Given the description of an element on the screen output the (x, y) to click on. 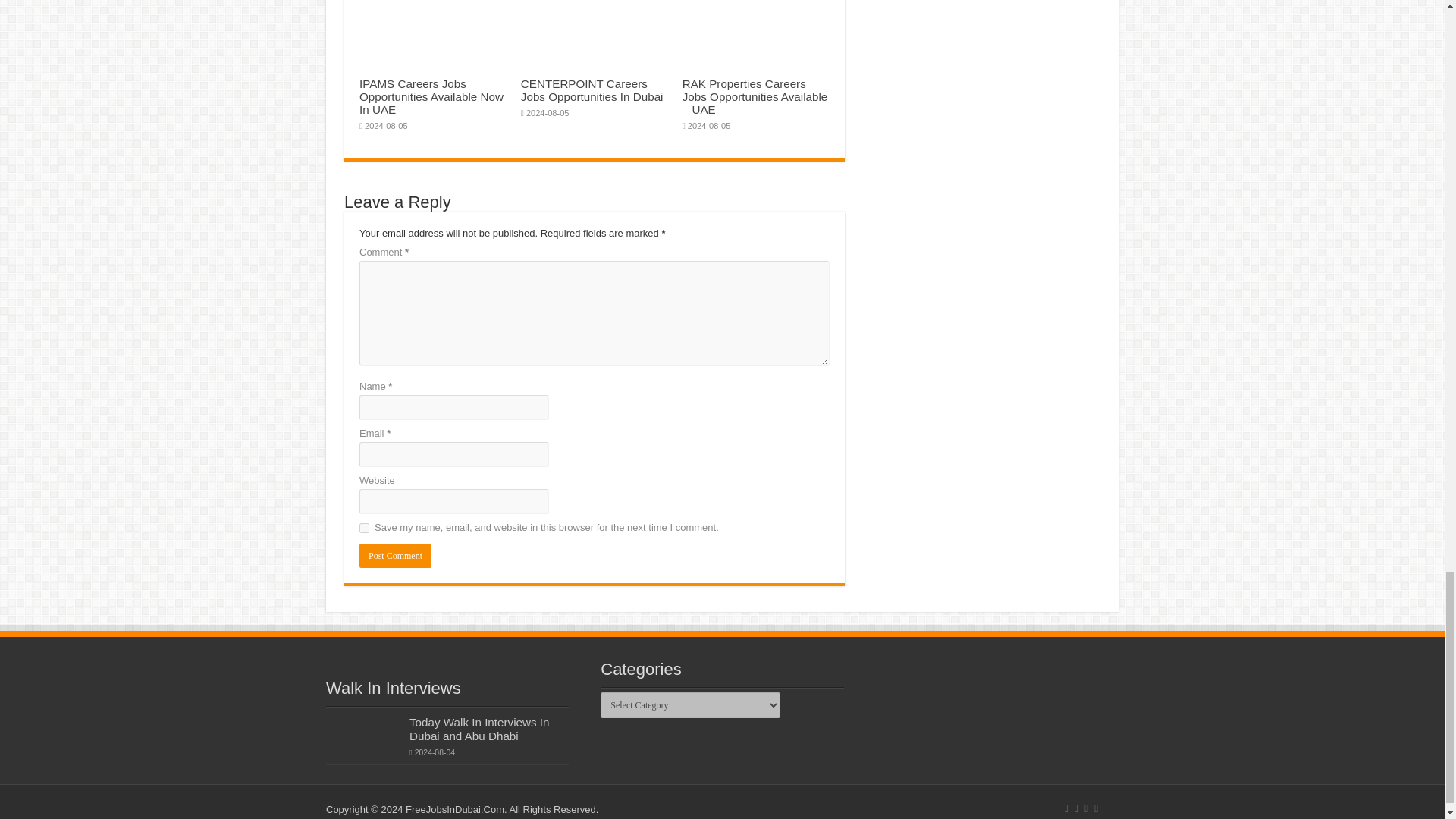
Post Comment (394, 555)
yes (364, 528)
